Given the description of an element on the screen output the (x, y) to click on. 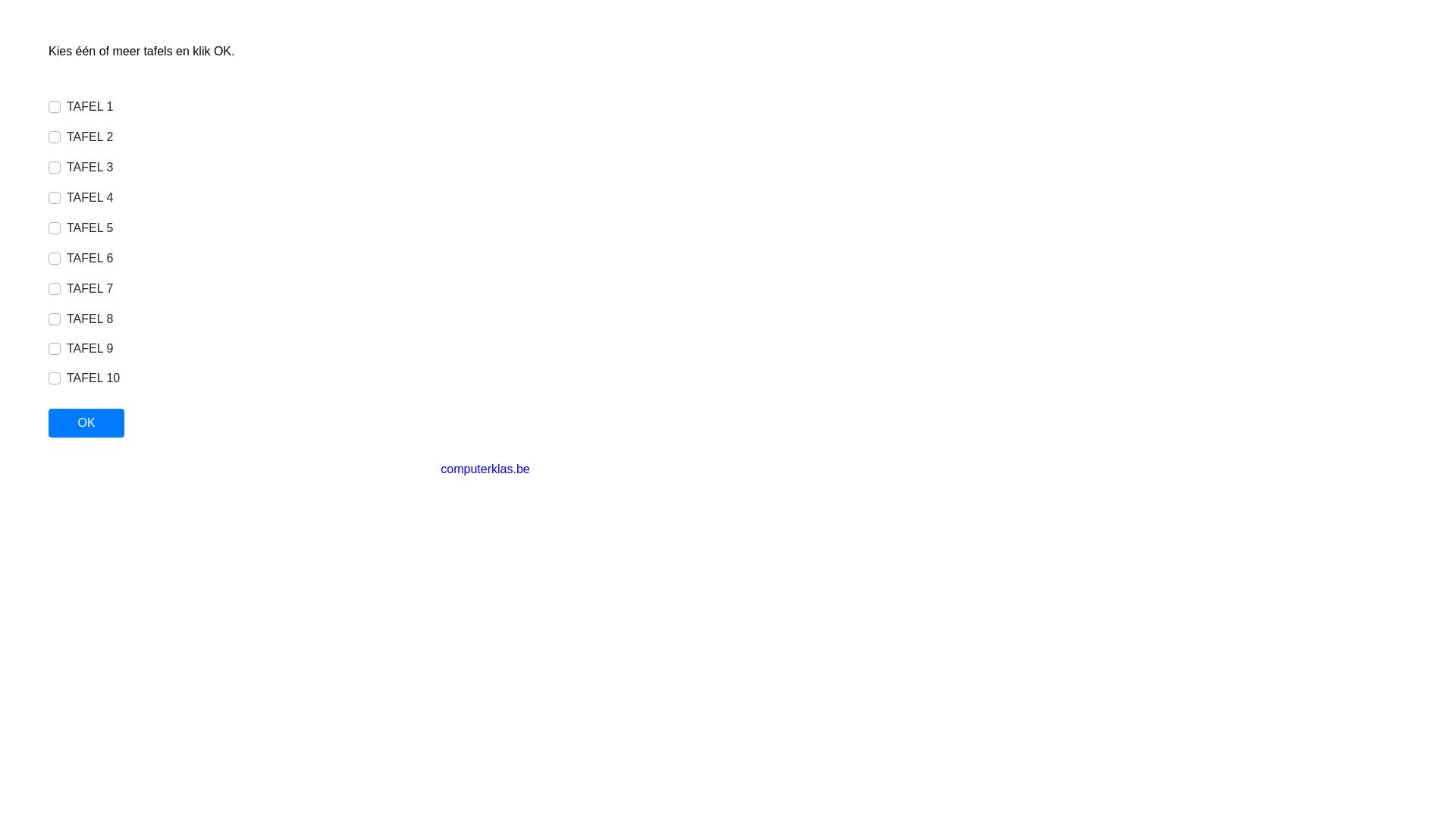
computerklas.be Element type: text (484, 468)
OK Element type: text (86, 422)
